Given the description of an element on the screen output the (x, y) to click on. 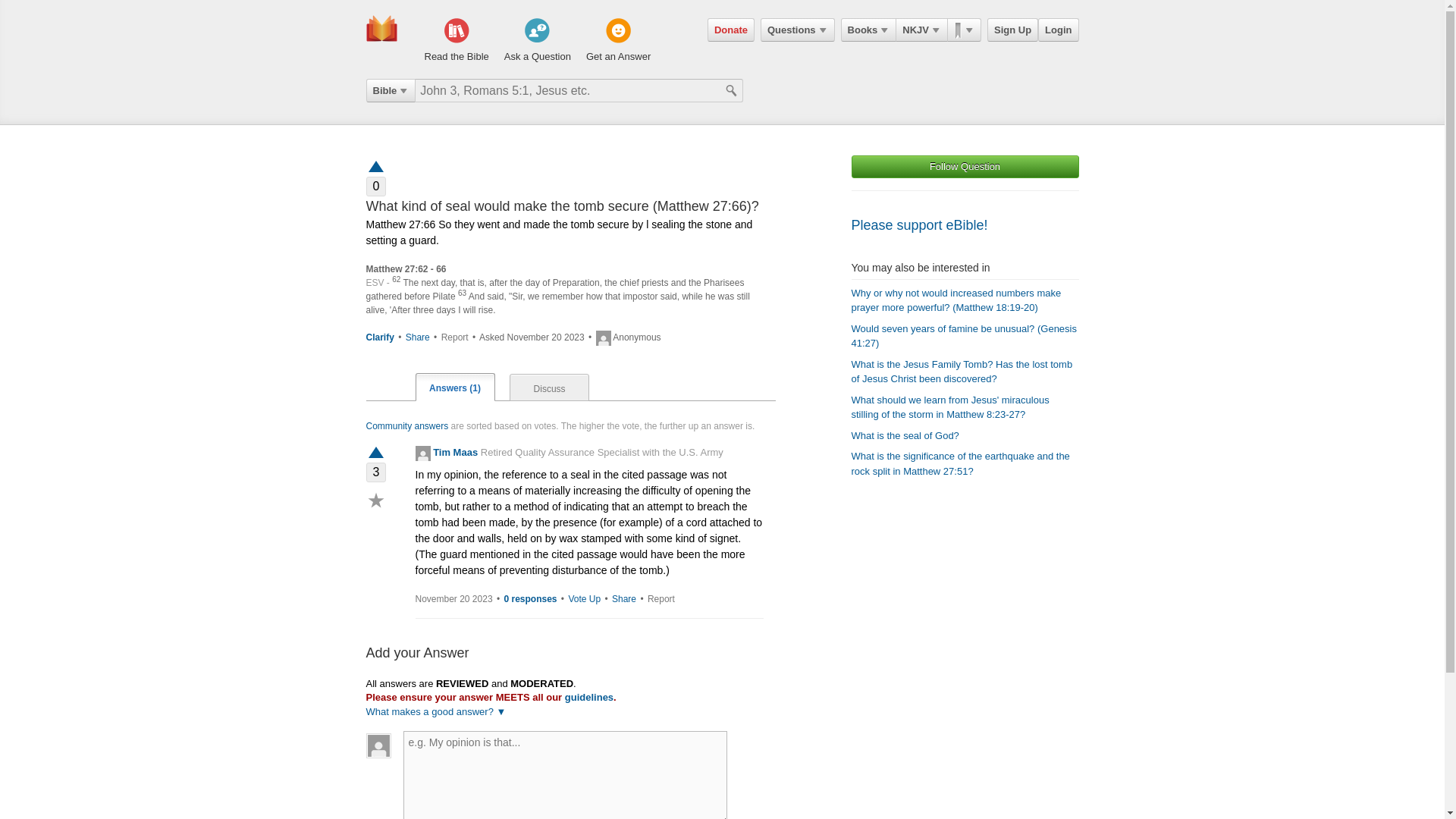
Questions (797, 29)
Vote Question Up (375, 165)
Ask a Question (536, 41)
Donate (730, 29)
Books (868, 29)
Get an Answer (618, 41)
Vote Up (583, 598)
Vote Up (375, 453)
Read the Bible (457, 41)
